Given the description of an element on the screen output the (x, y) to click on. 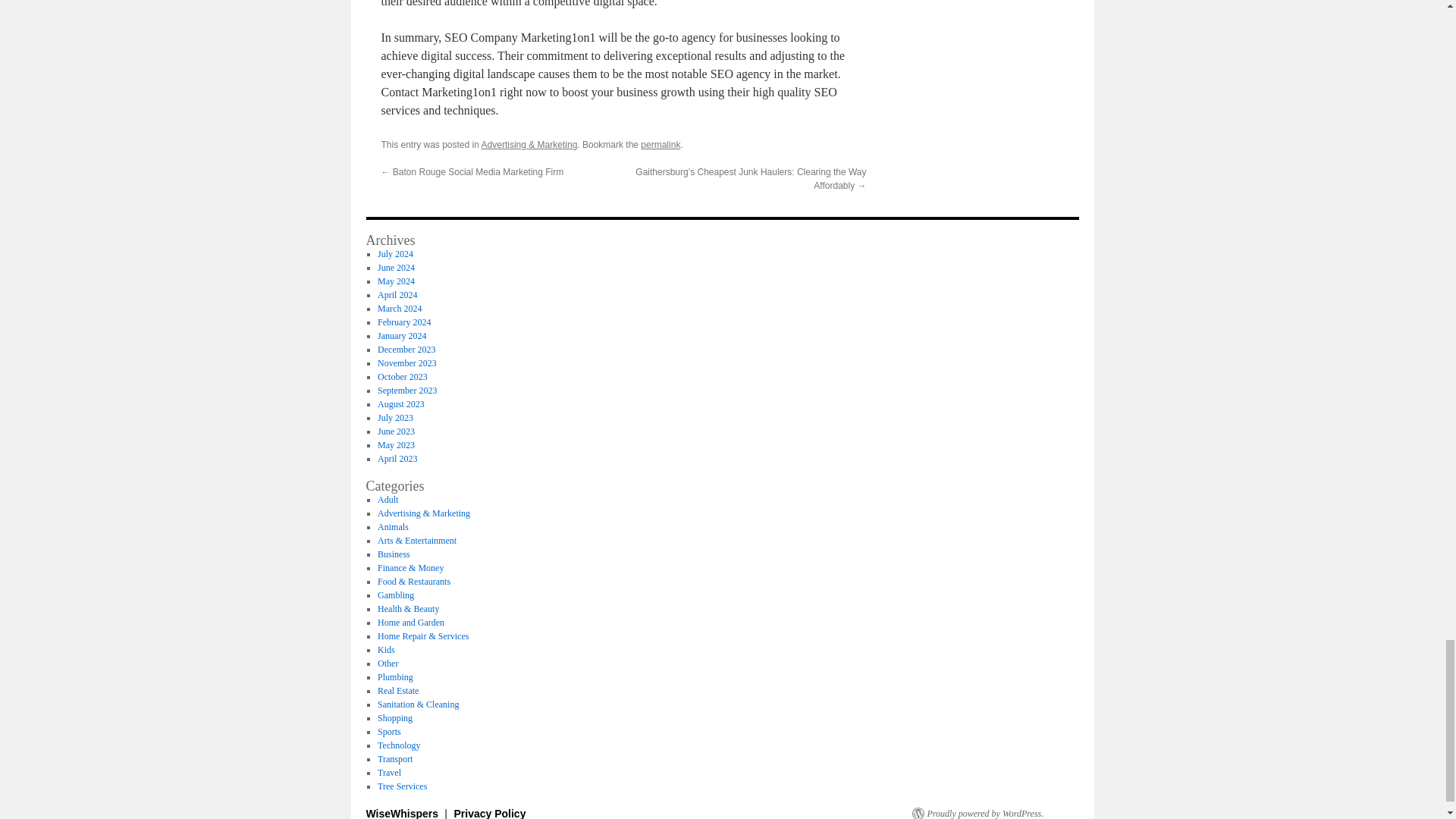
February 2024 (403, 321)
permalink (659, 144)
June 2023 (395, 430)
August 2023 (401, 403)
Animals (393, 526)
September 2023 (406, 389)
March 2024 (399, 308)
October 2023 (402, 376)
July 2023 (395, 417)
December 2023 (406, 348)
May 2024 (395, 281)
July 2024 (395, 253)
June 2024 (395, 267)
January 2024 (401, 335)
